Given the description of an element on the screen output the (x, y) to click on. 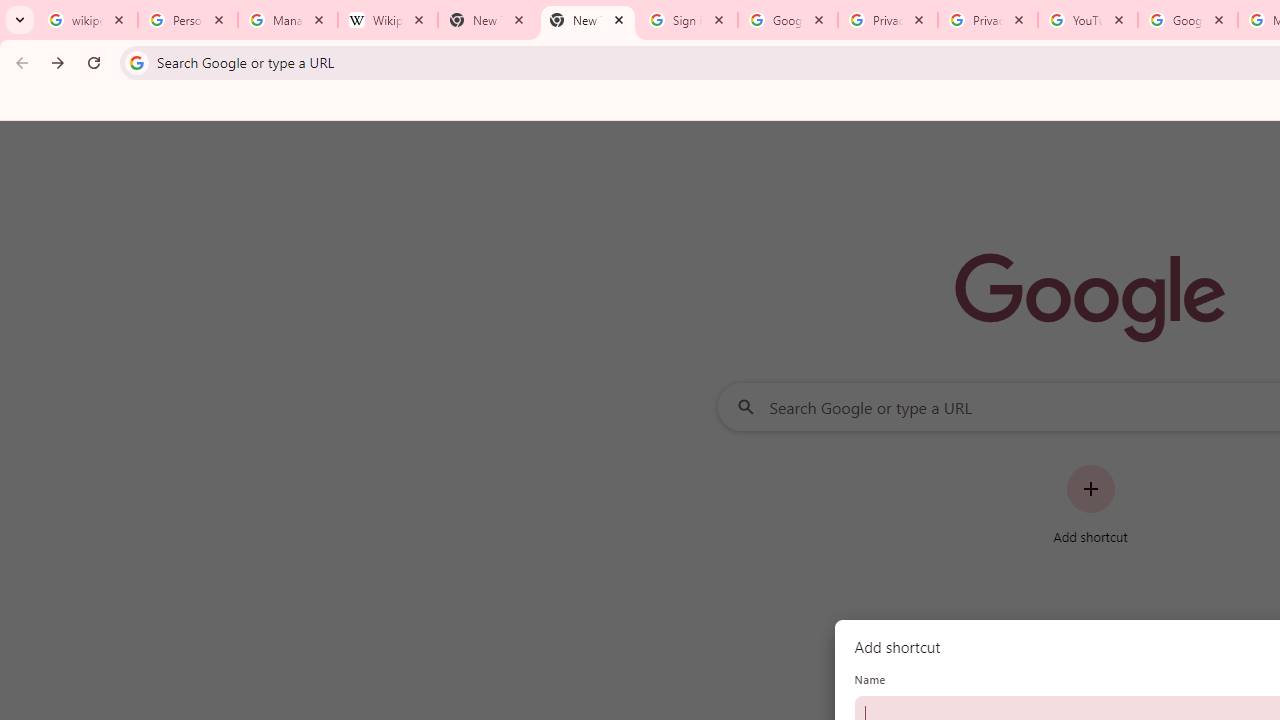
New Tab (487, 20)
Wikipedia:Edit requests - Wikipedia (387, 20)
Manage your Location History - Google Search Help (287, 20)
Personalization & Google Search results - Google Search Help (188, 20)
Google Account Help (1187, 20)
